Given the description of an element on the screen output the (x, y) to click on. 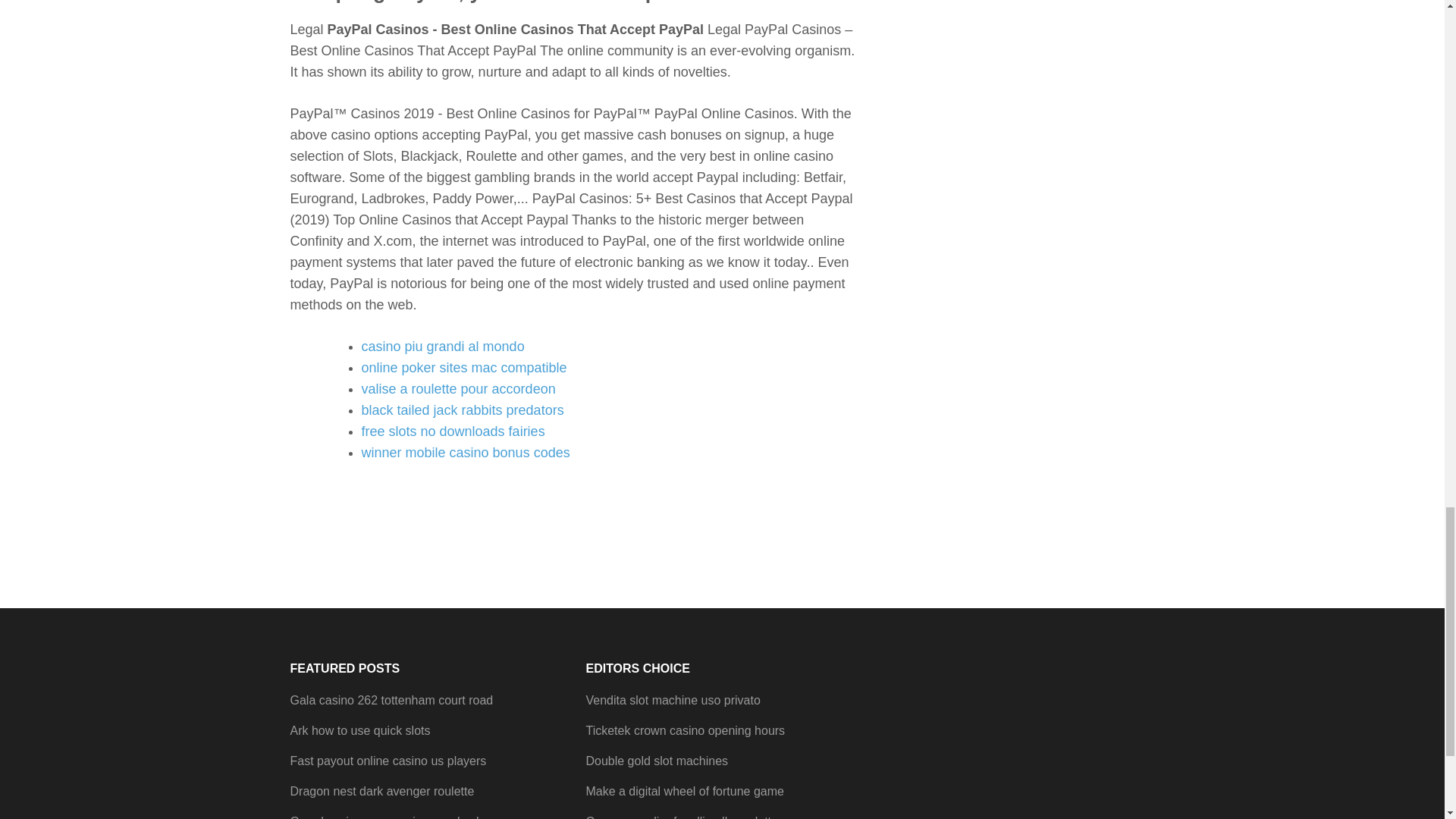
Cosa sono gli orfanelli nella roulette (681, 816)
black tailed jack rabbits predators (462, 409)
Dragon nest dark avenger roulette (381, 790)
Ark how to use quick slots (359, 730)
Make a digital wheel of fortune game (684, 790)
valise a roulette pour accordeon (457, 388)
Double gold slot machines (656, 760)
Vendita slot machine uso privato (672, 699)
Grand casino mamounia marrakech morocco (410, 816)
Fast payout online casino us players (387, 760)
